Given the description of an element on the screen output the (x, y) to click on. 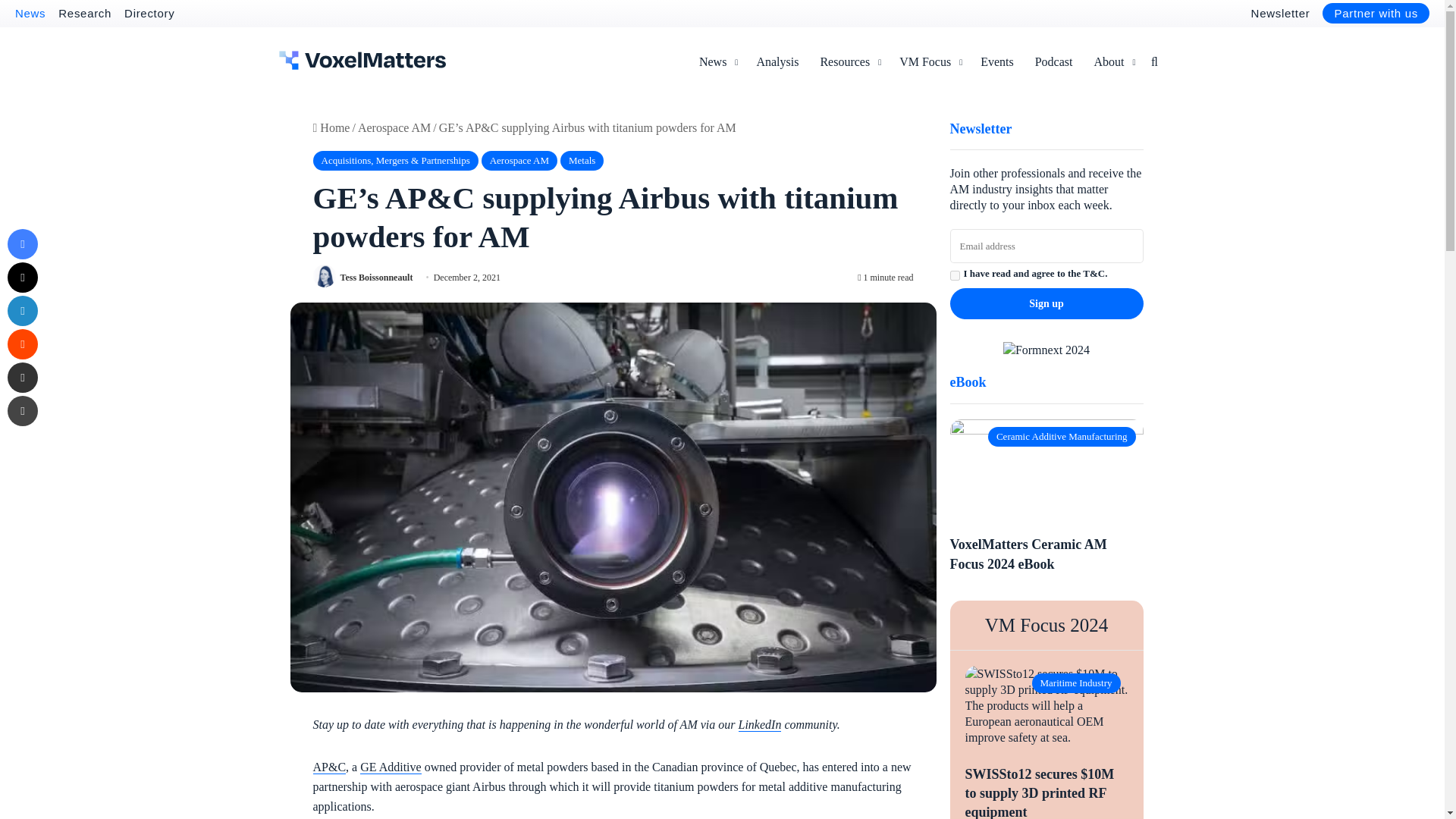
Facebook (22, 244)
Tess Boissonneault (375, 276)
News (29, 12)
Print (22, 410)
VoxelMatters - The heart of additive manufacturing (362, 60)
X (22, 277)
Share via Email (22, 377)
Partner with us (1375, 13)
Analysis (777, 62)
1 (954, 275)
